Given the description of an element on the screen output the (x, y) to click on. 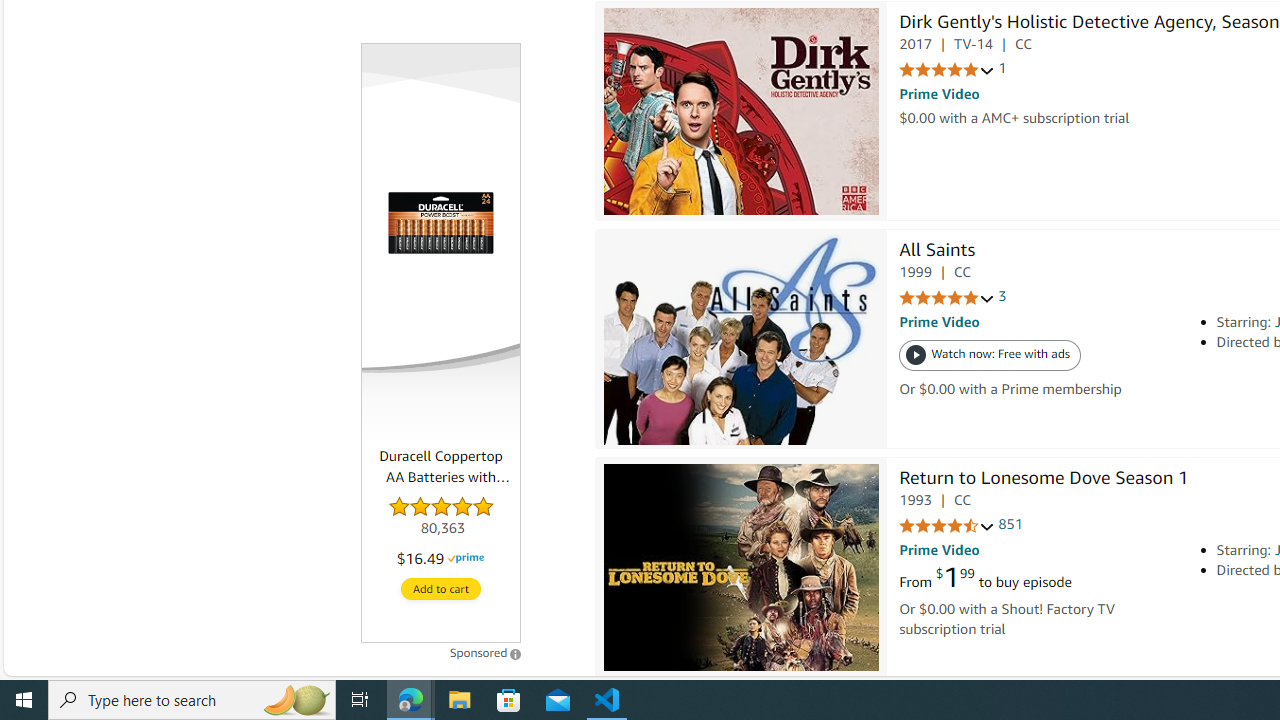
All Saints (936, 251)
1 (1002, 69)
Dirk Gently's Holistic Detective Agency, Season 2 (741, 111)
4.8 out of 5 stars. (441, 518)
Skip to main search results (88, 666)
Product image (440, 222)
